Given the description of an element on the screen output the (x, y) to click on. 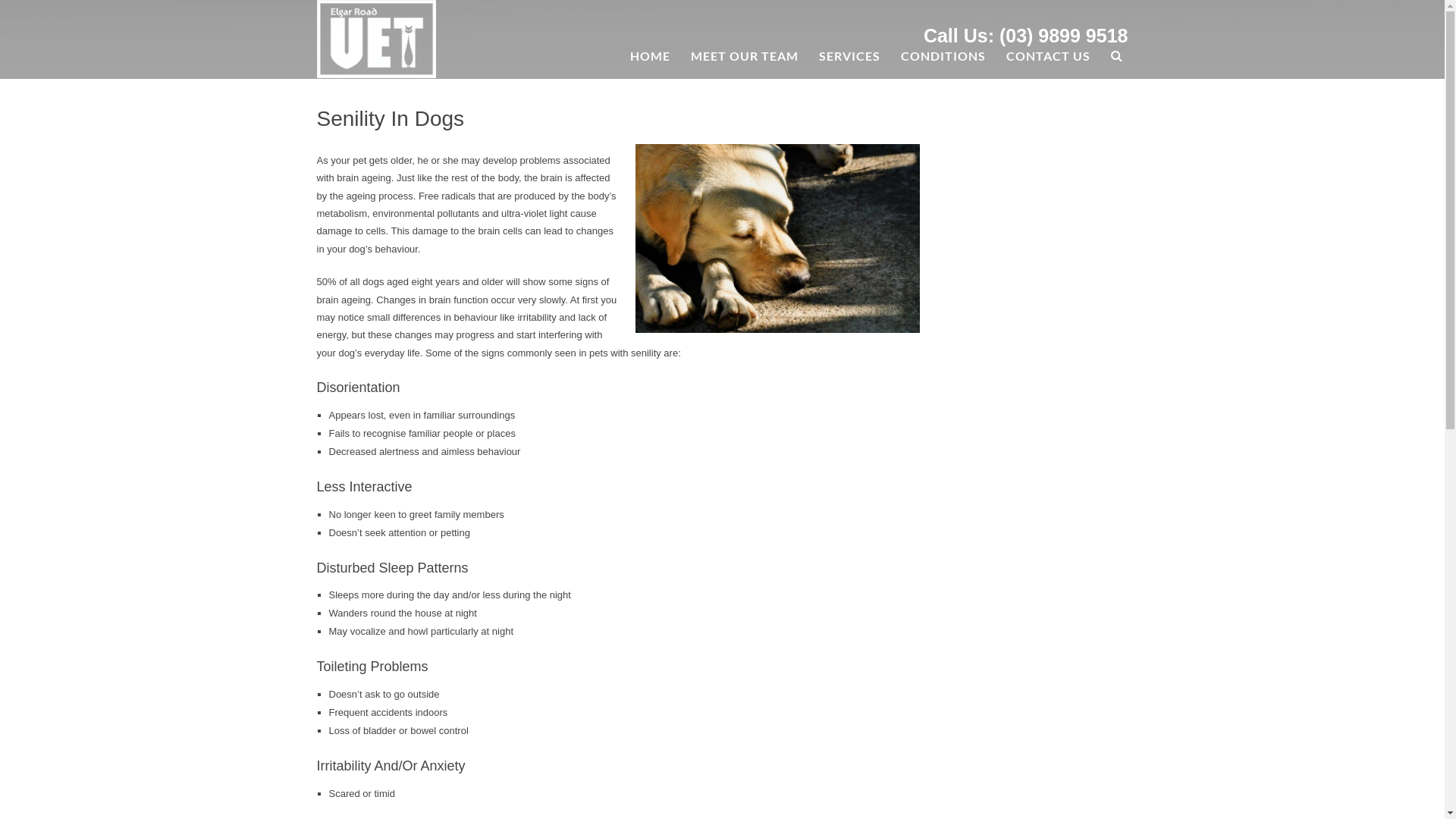
SERVICES Element type: text (848, 54)
HOME Element type: text (650, 54)
CONTACT US Element type: text (1048, 54)
MEET OUR TEAM Element type: text (744, 54)
CONDITIONS Element type: text (942, 54)
(03) 9899 9518 Element type: text (1063, 34)
